Given the description of an element on the screen output the (x, y) to click on. 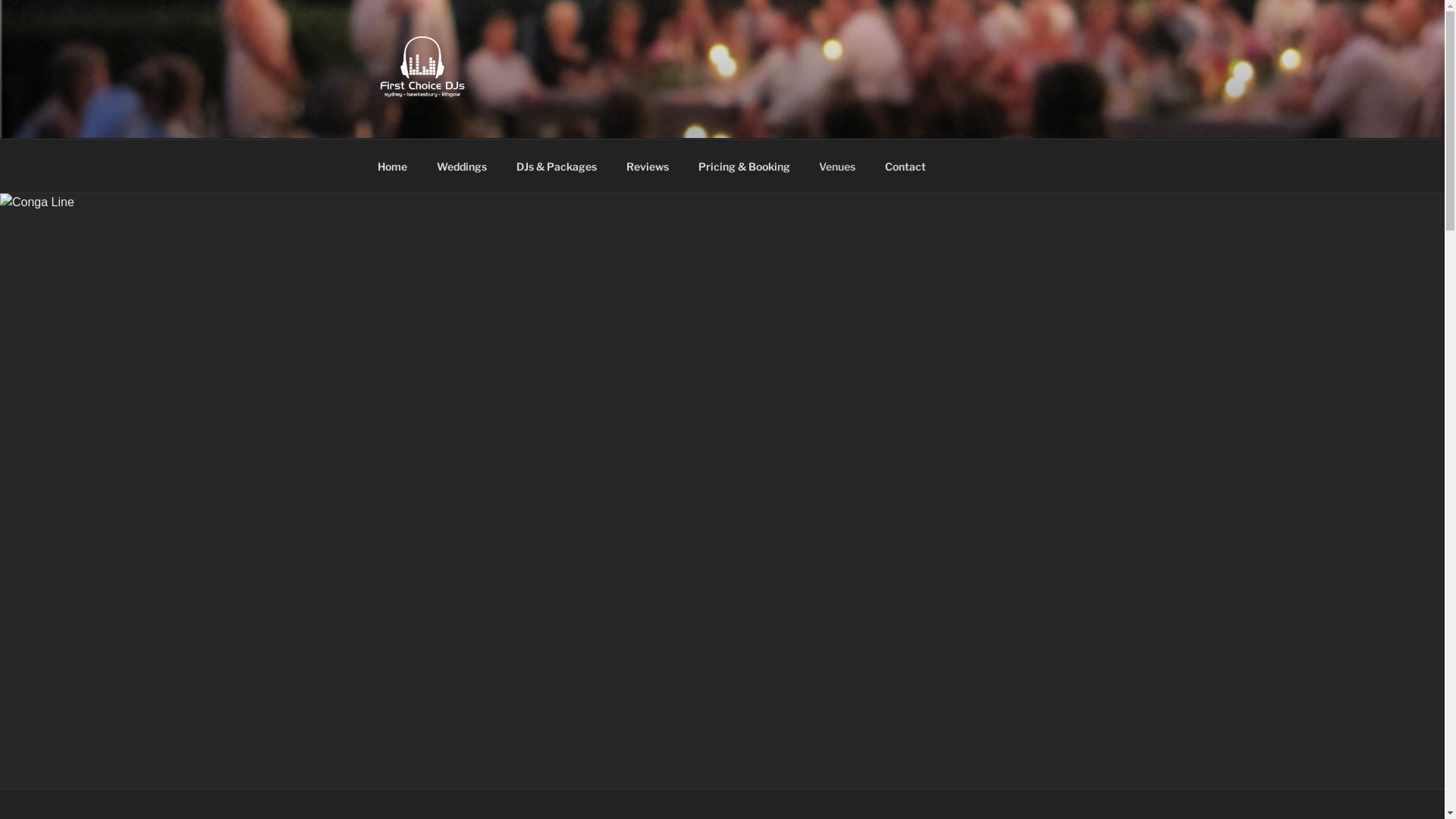
Home Element type: text (392, 165)
Reviews Element type: text (646, 165)
Weddings Element type: text (461, 165)
Pricing & Booking Element type: text (743, 165)
Venues Element type: text (837, 165)
DJs & Packages Element type: text (555, 165)
Contact Element type: text (905, 165)
